Given the description of an element on the screen output the (x, y) to click on. 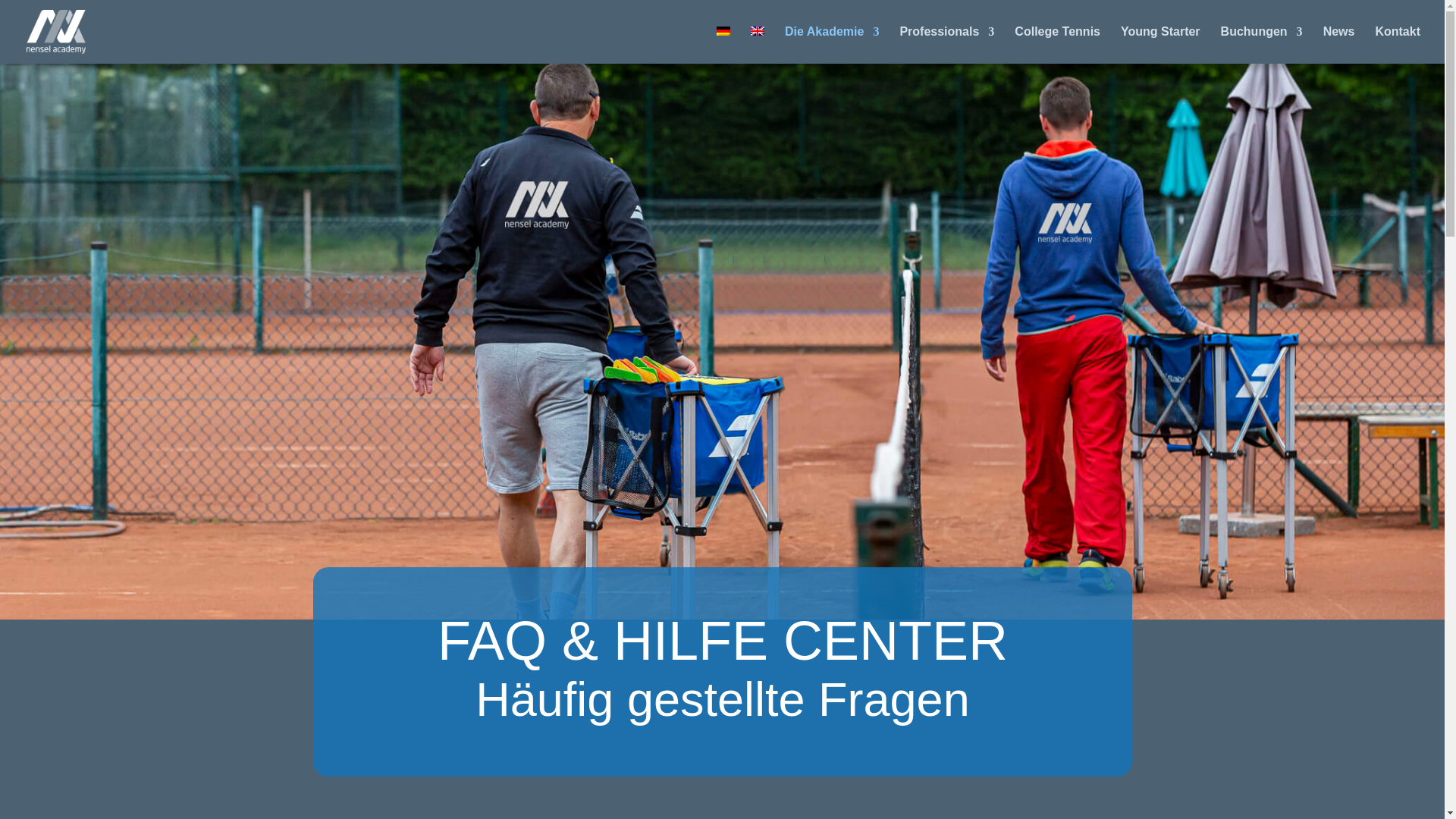
Buchungen (1262, 44)
Professionals (946, 44)
Young Starter (1160, 44)
Kontakt (1397, 44)
College Tennis (1057, 44)
Die Akademie (831, 44)
